Given the description of an element on the screen output the (x, y) to click on. 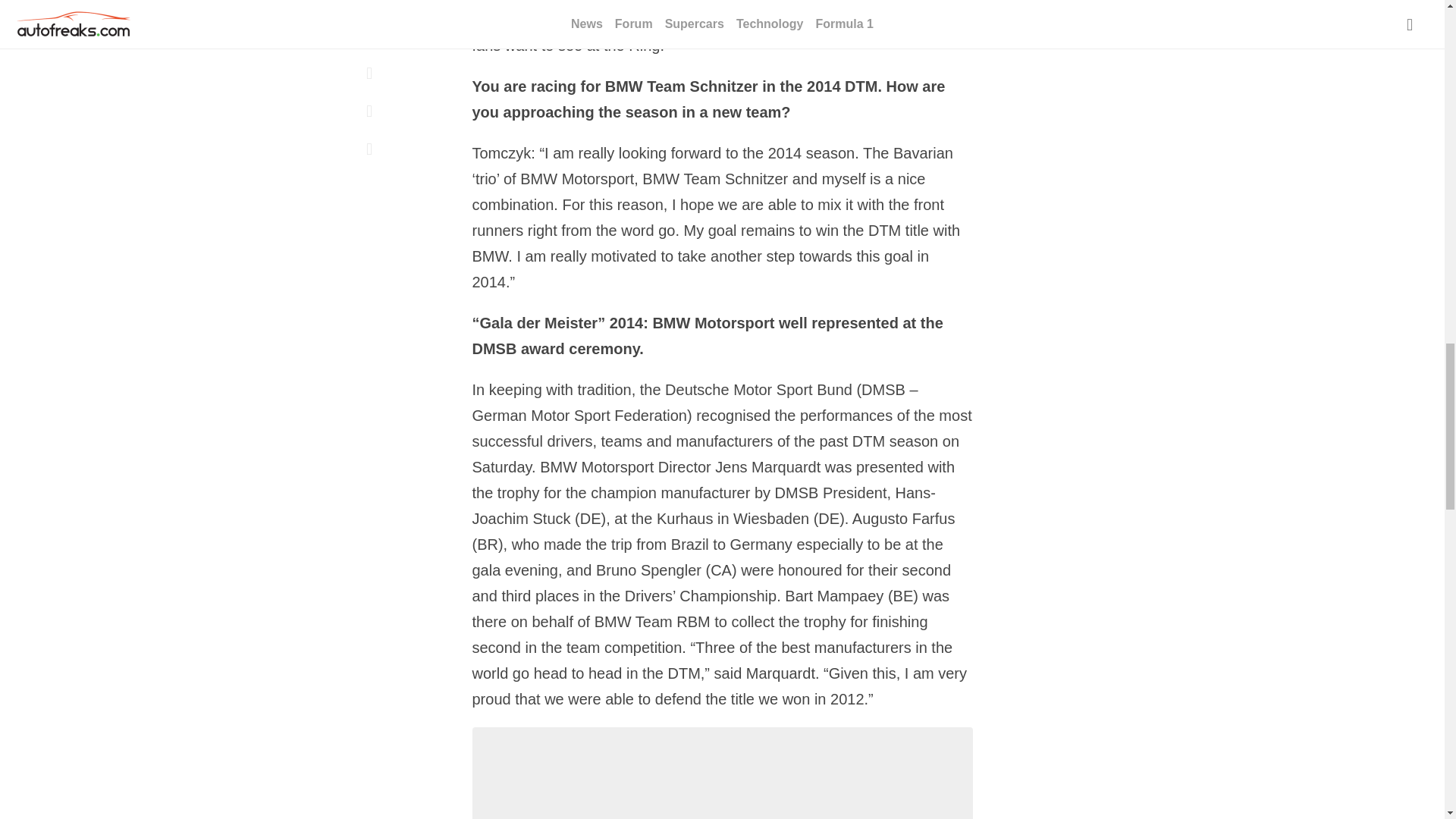
M235i (492, 20)
M235i (683, 2)
The new challenger is ready - BMW Motorsport. (721, 773)
